Given the description of an element on the screen output the (x, y) to click on. 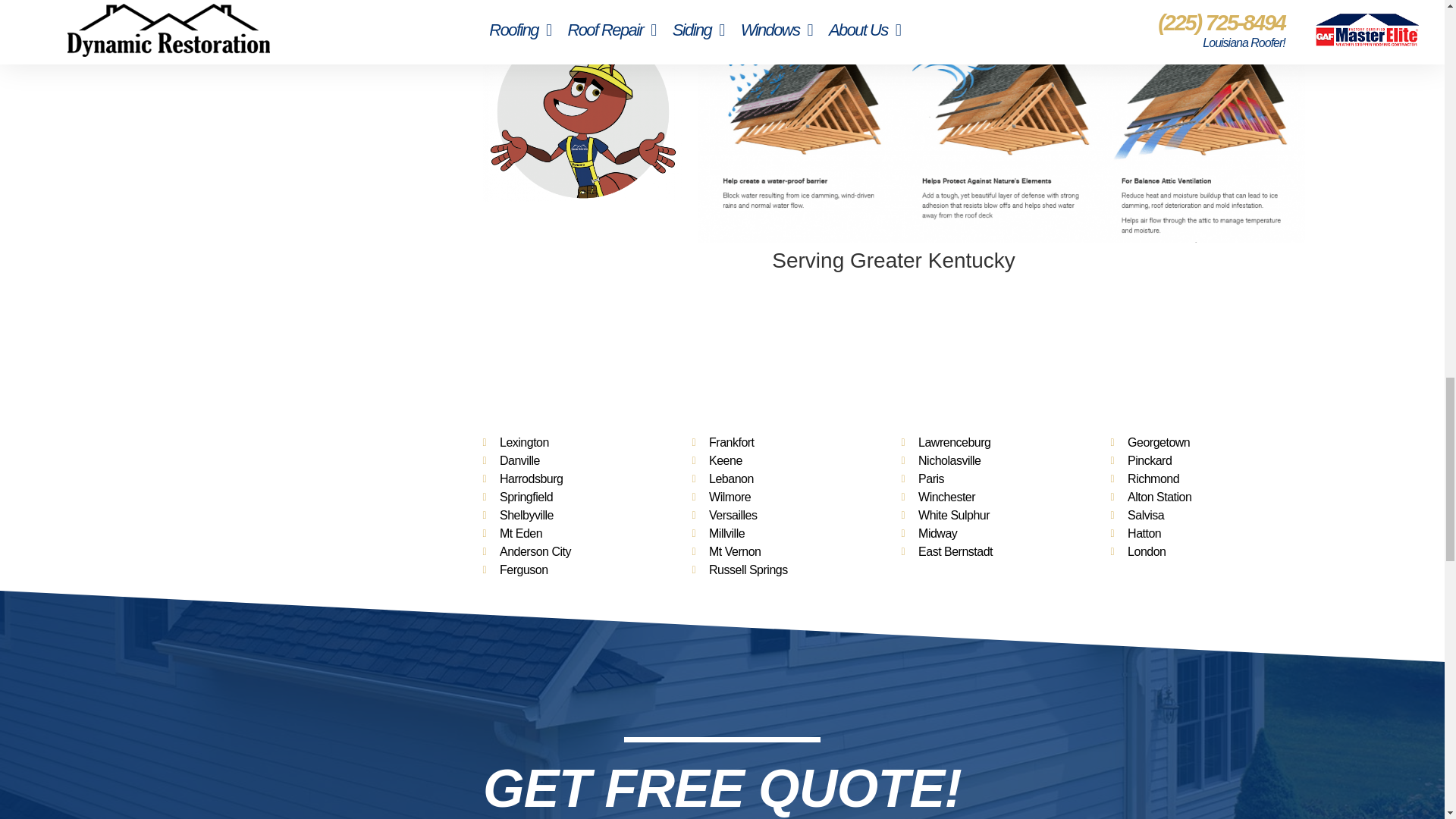
Chalmette, LA (892, 348)
